Given the description of an element on the screen output the (x, y) to click on. 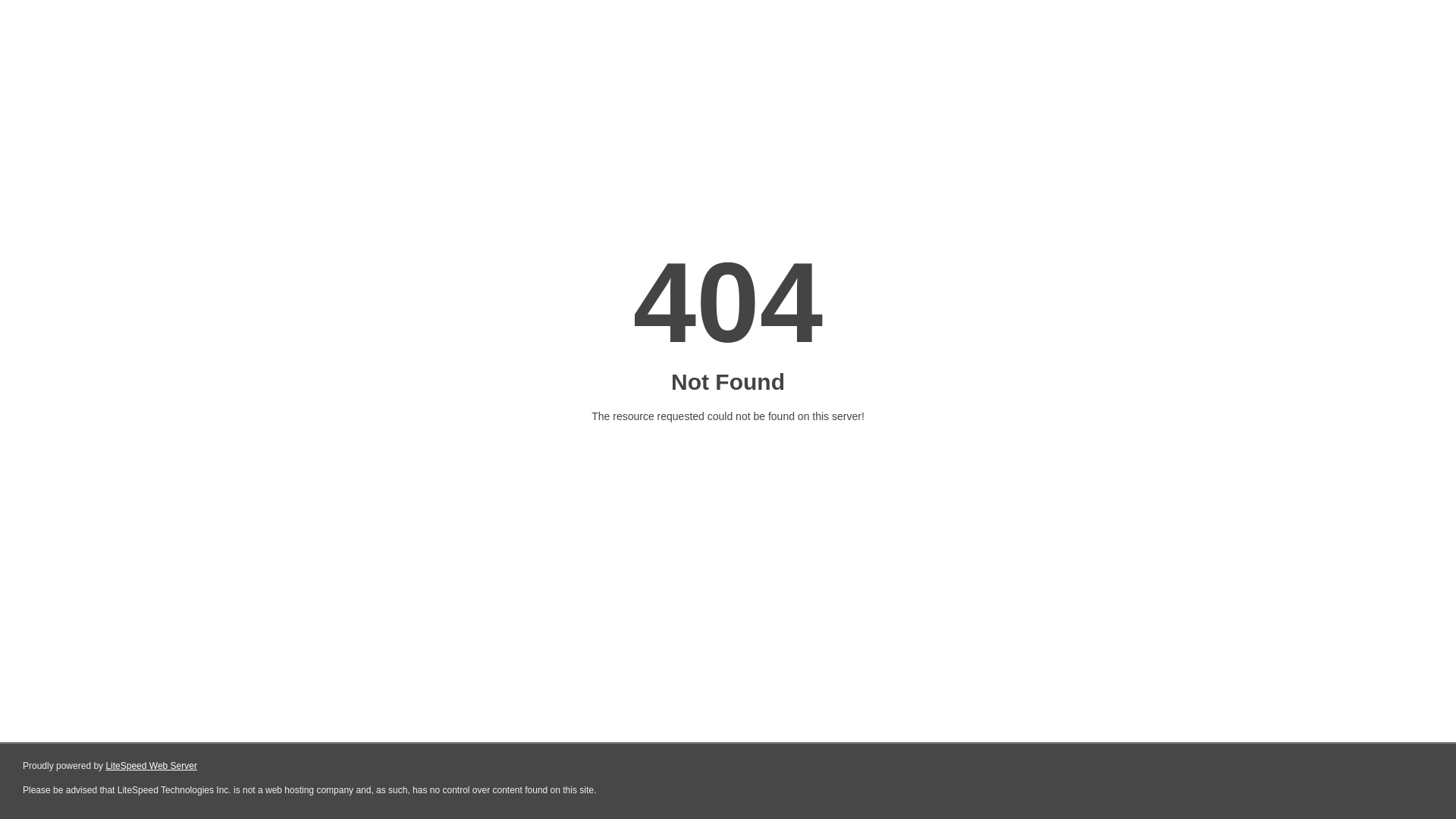
LiteSpeed Web Server Element type: text (151, 765)
